Given the description of an element on the screen output the (x, y) to click on. 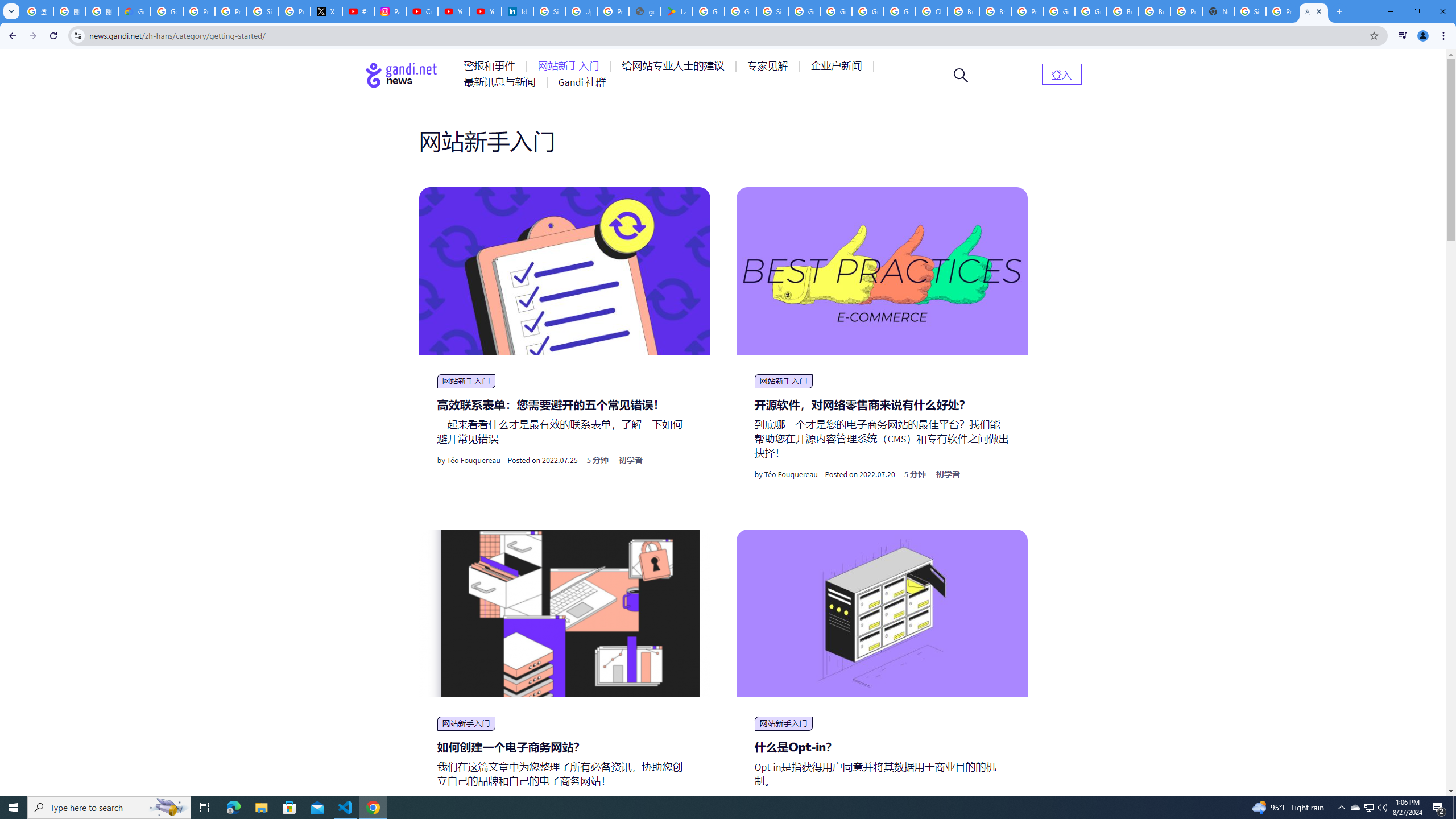
AutomationID: menu-item-82399 (1061, 73)
Google Cloud Platform (1091, 11)
Browse Chrome as a guest - Computer - Google Chrome Help (963, 11)
AutomationID: menu-item-77761 (492, 65)
Privacy Help Center - Policies Help (230, 11)
Sign in - Google Accounts (772, 11)
AutomationID: menu-item-77767 (581, 82)
AutomationID: menu-item-77765 (838, 65)
Browse Chrome as a guest - Computer - Google Chrome Help (1154, 11)
